Given the description of an element on the screen output the (x, y) to click on. 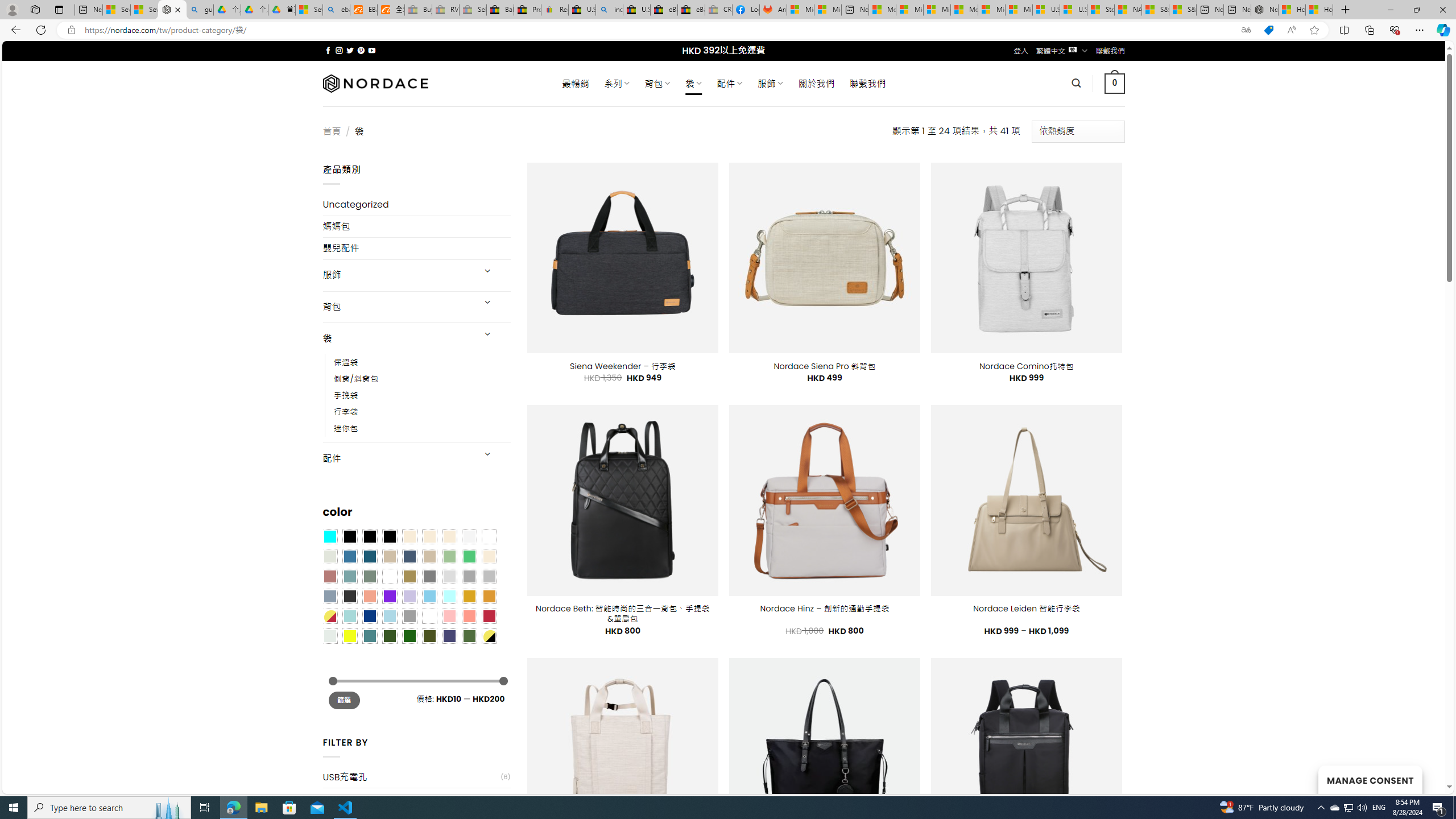
including - Search (609, 9)
